Given the description of an element on the screen output the (x, y) to click on. 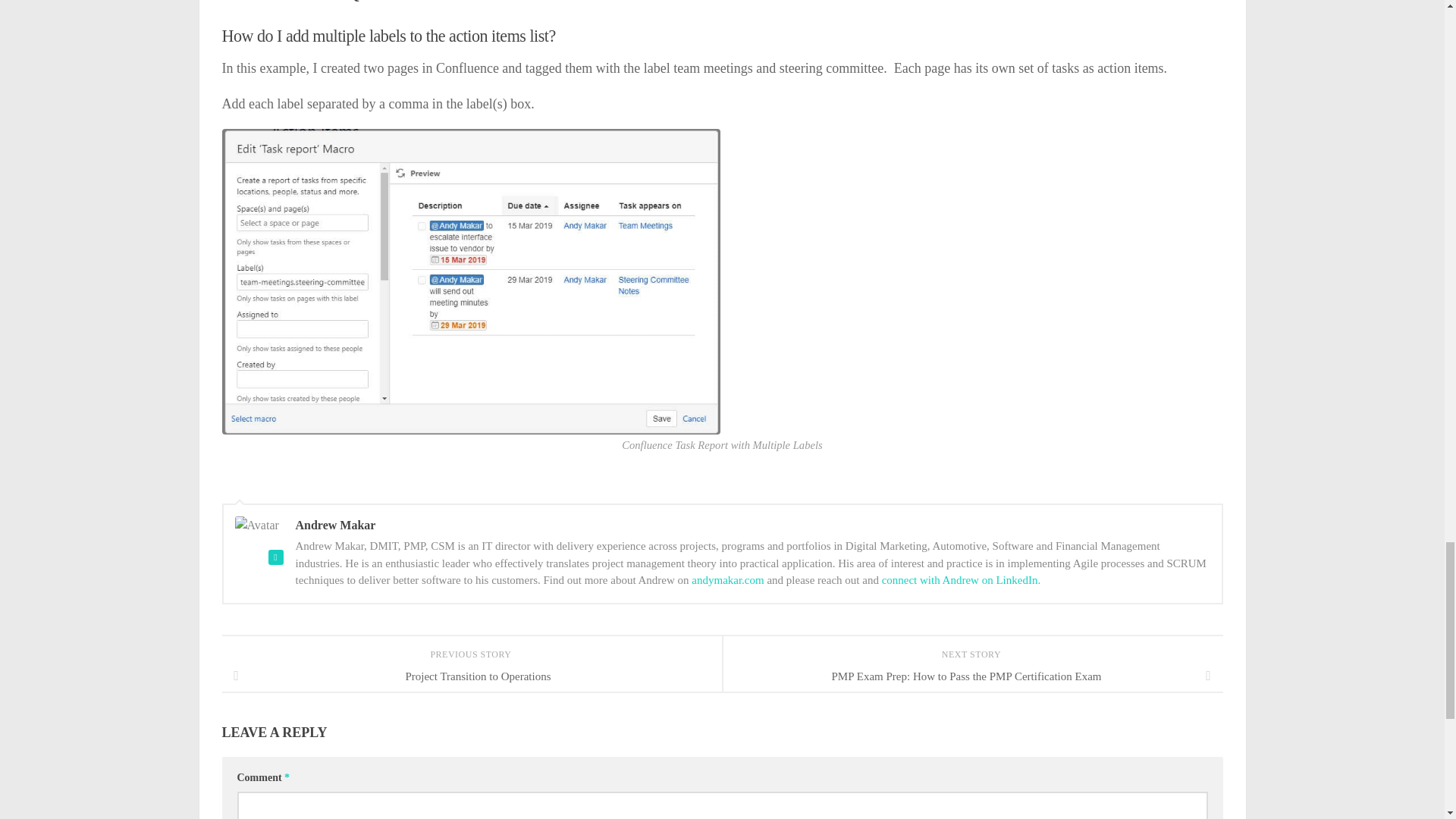
PMP Exam Prep: How to Pass the PMP Certification Exam (972, 676)
Project Transition to Operations (471, 676)
andymakar.com (726, 580)
connect with Andrew on LinkedIn. (961, 580)
